Given the description of an element on the screen output the (x, y) to click on. 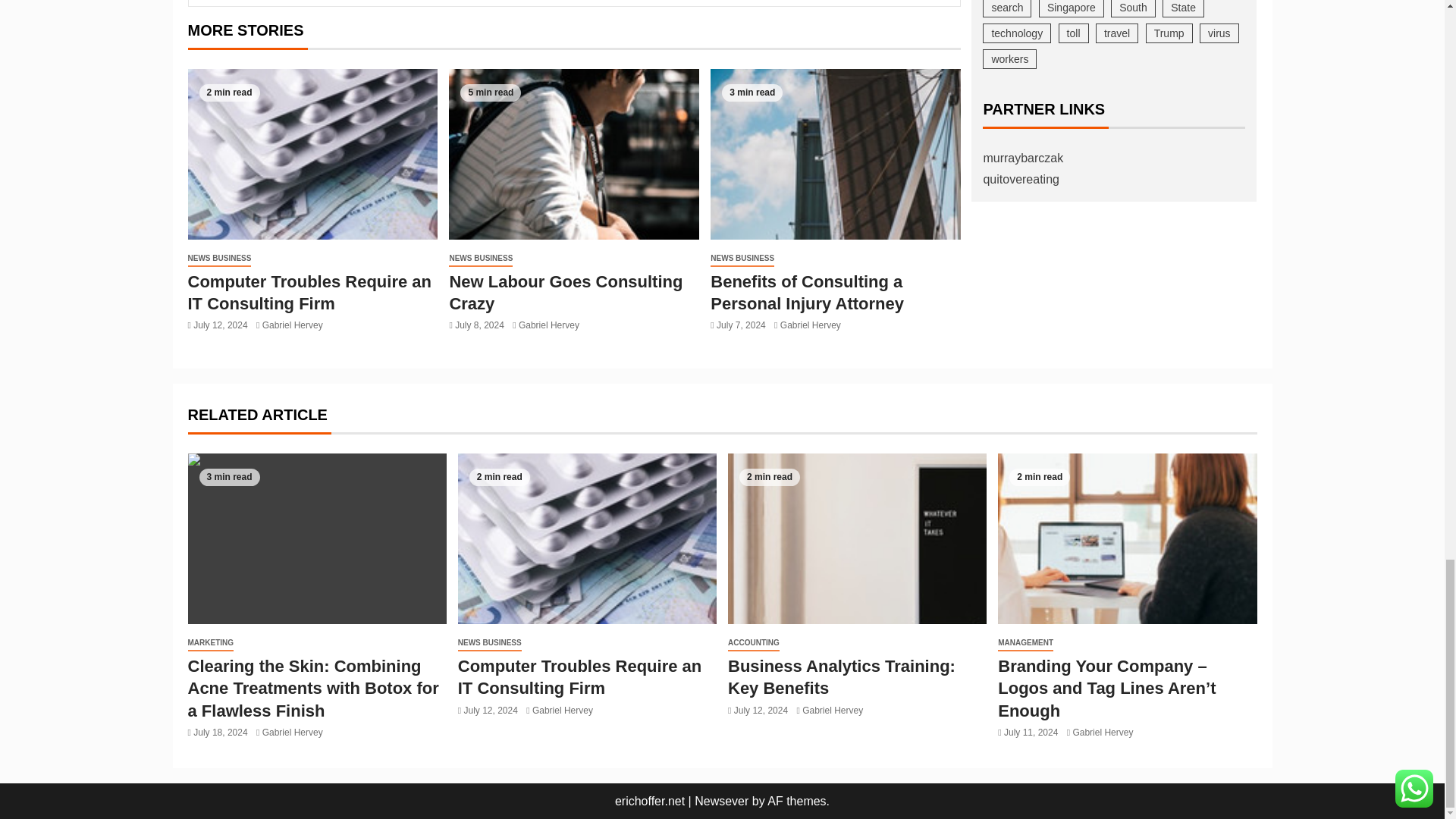
Computer Troubles Require an IT Consulting Firm (312, 153)
